Given the description of an element on the screen output the (x, y) to click on. 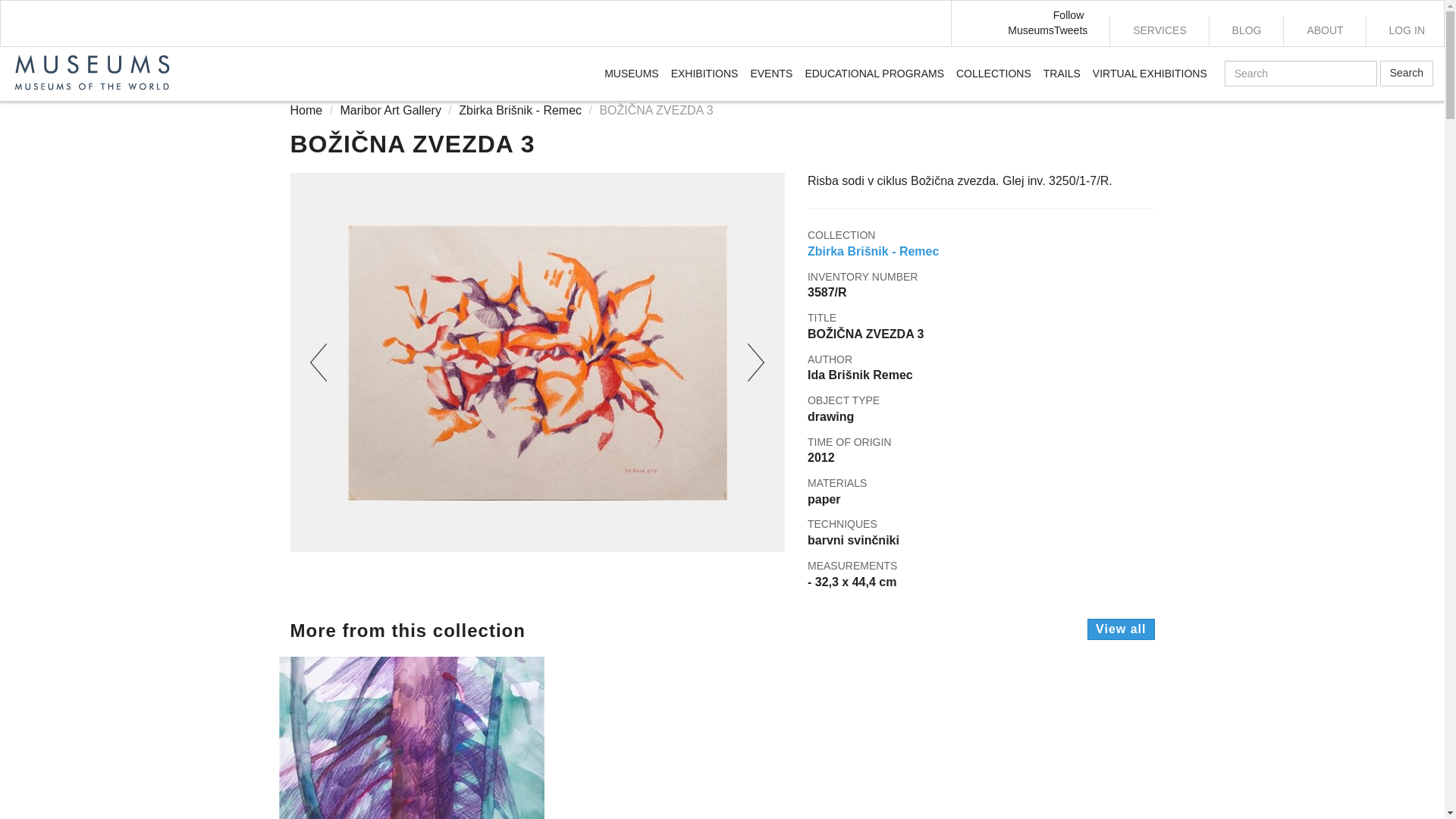
EXHIBITIONS (704, 73)
BLOG (1246, 30)
EXHIBITIONS (704, 73)
MUSEUMS (631, 73)
Search (1406, 73)
SERVICES (1159, 30)
VIRTUAL EXHIBITIONS (1149, 73)
View all (1120, 629)
EDUCATIONAL PROGRAMS (873, 73)
